Given the description of an element on the screen output the (x, y) to click on. 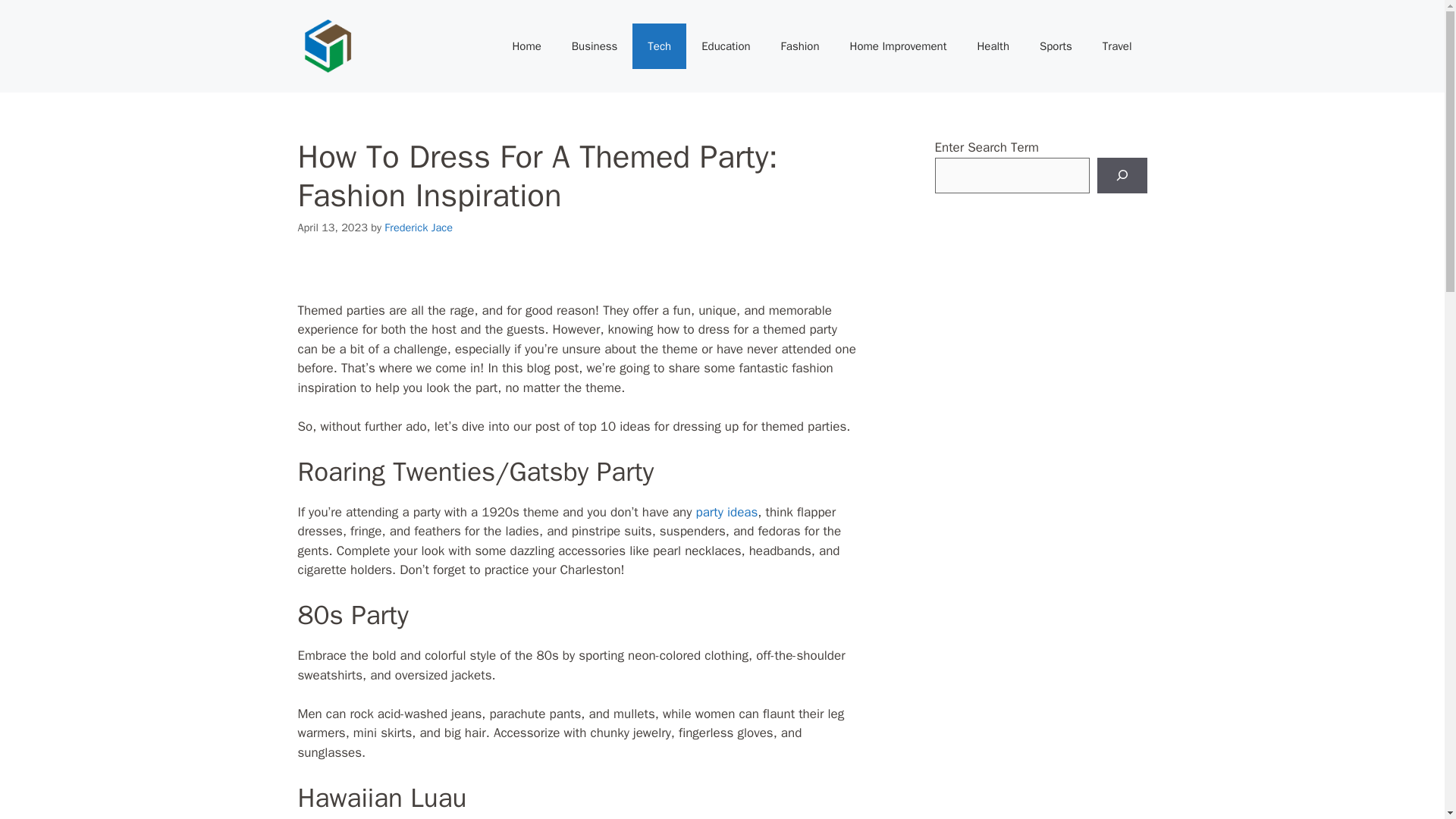
Travel (1117, 45)
View all posts by Frederick Jace (418, 227)
Fashion (799, 45)
Home Improvement (898, 45)
Health (992, 45)
Business (594, 45)
party ideas (726, 512)
Frederick Jace (418, 227)
Education (725, 45)
Tech (658, 45)
Sports (1056, 45)
Home (526, 45)
